Given the description of an element on the screen output the (x, y) to click on. 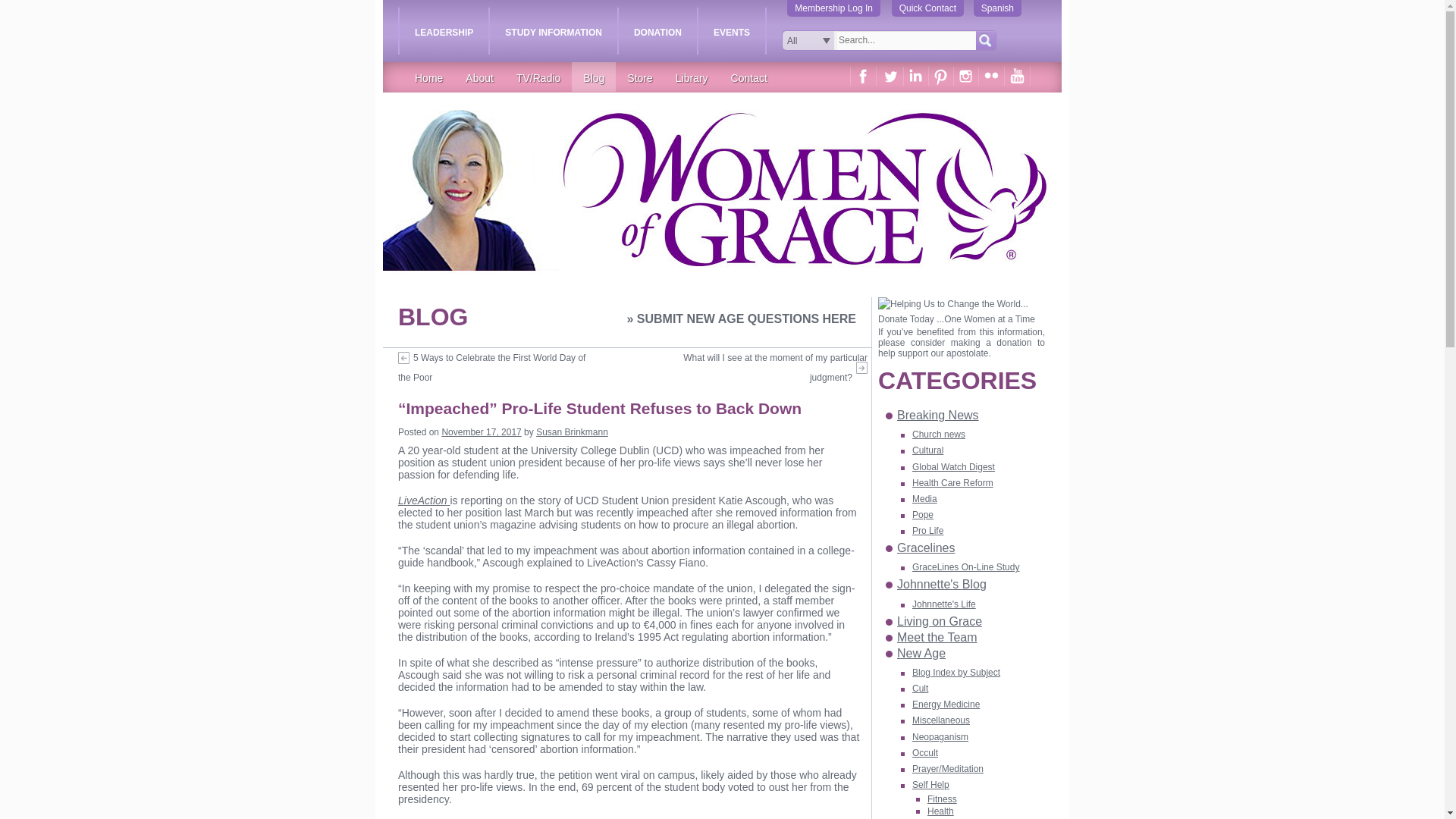
Library (691, 78)
Events (731, 30)
Store (639, 78)
BLOG (432, 316)
8:04 am (481, 431)
Contact (748, 78)
November 17, 2017 (481, 431)
Store (639, 78)
Donation (657, 30)
LiveAction (423, 500)
About (479, 78)
Membership Log In (833, 8)
View all posts by Susan Brinkmann (571, 431)
Home (428, 78)
5 Ways to Celebrate the First World Day of the Poor (491, 367)
